Given the description of an element on the screen output the (x, y) to click on. 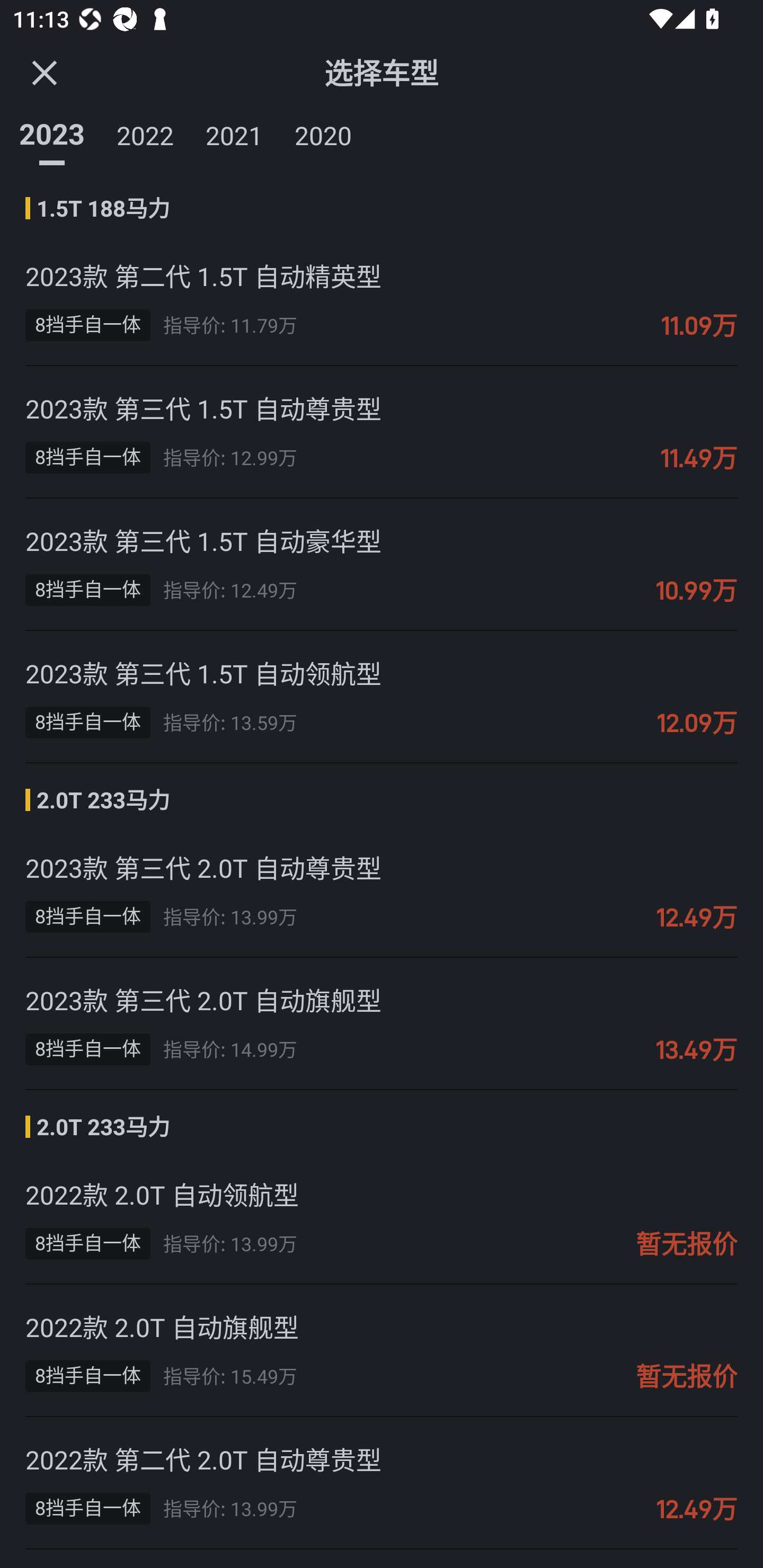
 (44, 71)
2023 (51, 132)
2022 (144, 132)
2021 (233, 132)
2020 (322, 132)
2023款 第二代 1.5T 自动精英型 8挡手自一体 指导价: 11.79万 11.09万 (381, 299)
2023款 第三代 1.5T 自动尊贵型 8挡手自一体 指导价: 12.99万 11.49万 (381, 431)
2023款 第三代 1.5T 自动豪华型 8挡手自一体 指导价: 12.49万 10.99万 (381, 564)
2023款 第三代 1.5T 自动领航型 8挡手自一体 指导价: 13.59万 12.09万 (381, 696)
2023款 第三代 2.0T 自动尊贵型 8挡手自一体 指导价: 13.99万 12.49万 (381, 891)
2023款 第三代 2.0T 自动旗舰型 8挡手自一体 指导价: 14.99万 13.49万 (381, 1023)
2022款 2.0T 自动领航型 8挡手自一体 指导价: 13.99万 暂无报价 (381, 1218)
2022款 2.0T 自动旗舰型 8挡手自一体 指导价: 15.49万 暂无报价 (381, 1350)
2022款 第二代 2.0T 自动尊贵型 8挡手自一体 指导价: 13.99万 12.49万 (381, 1483)
